Given the description of an element on the screen output the (x, y) to click on. 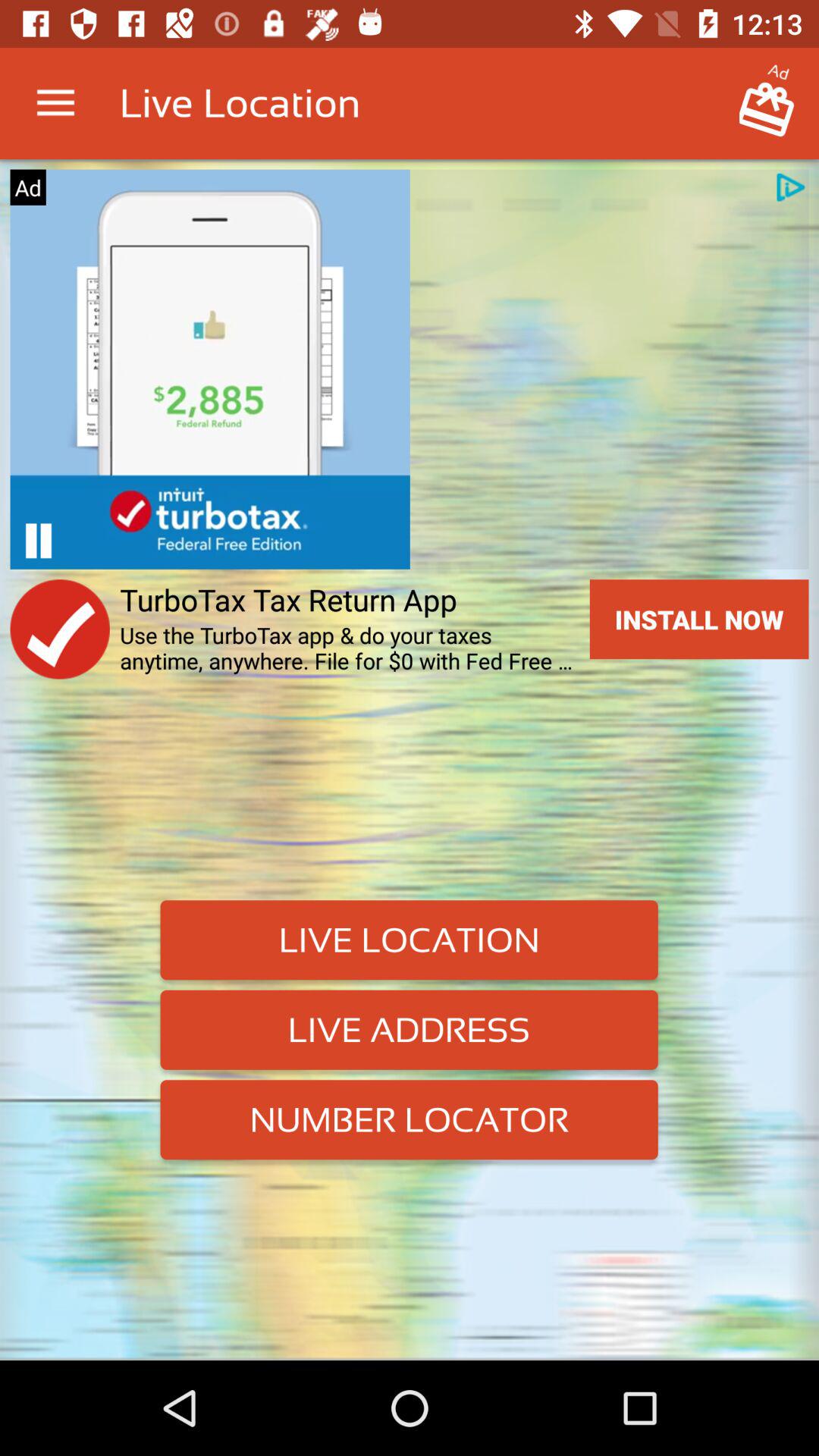
go to advertisement page (38, 540)
